Given the description of an element on the screen output the (x, y) to click on. 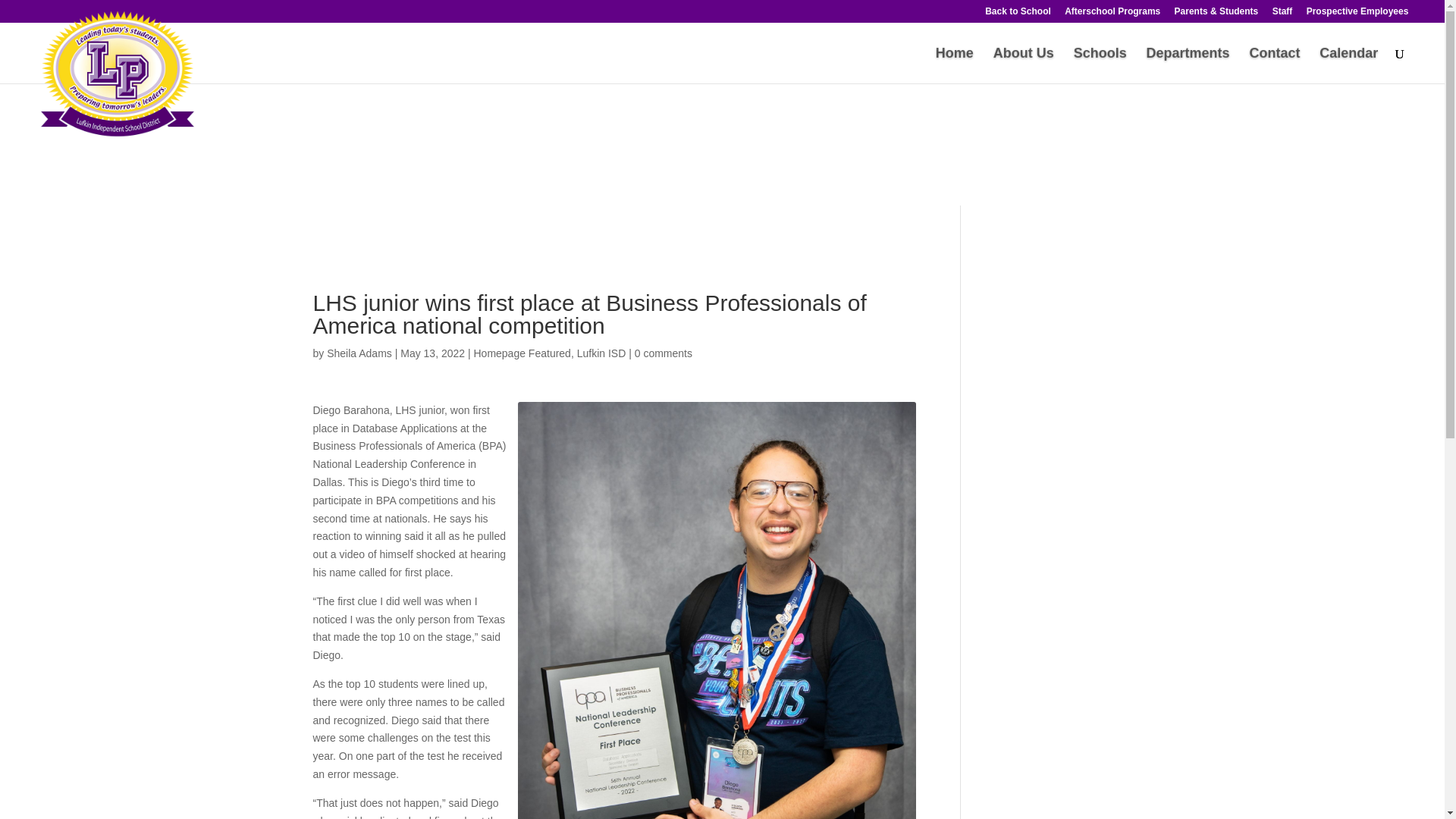
Posts by Sheila Adams (358, 353)
Home (955, 65)
Schools (1100, 65)
Back to School (1018, 14)
About Us (1023, 65)
Lufkin ISD (601, 353)
Homepage Featured (521, 353)
Calendar (1348, 65)
Departments (1188, 65)
Prospective Employees (1357, 14)
Sheila Adams (358, 353)
Contact (1274, 65)
Staff (1282, 14)
Afterschool Programs (1112, 14)
